Given the description of an element on the screen output the (x, y) to click on. 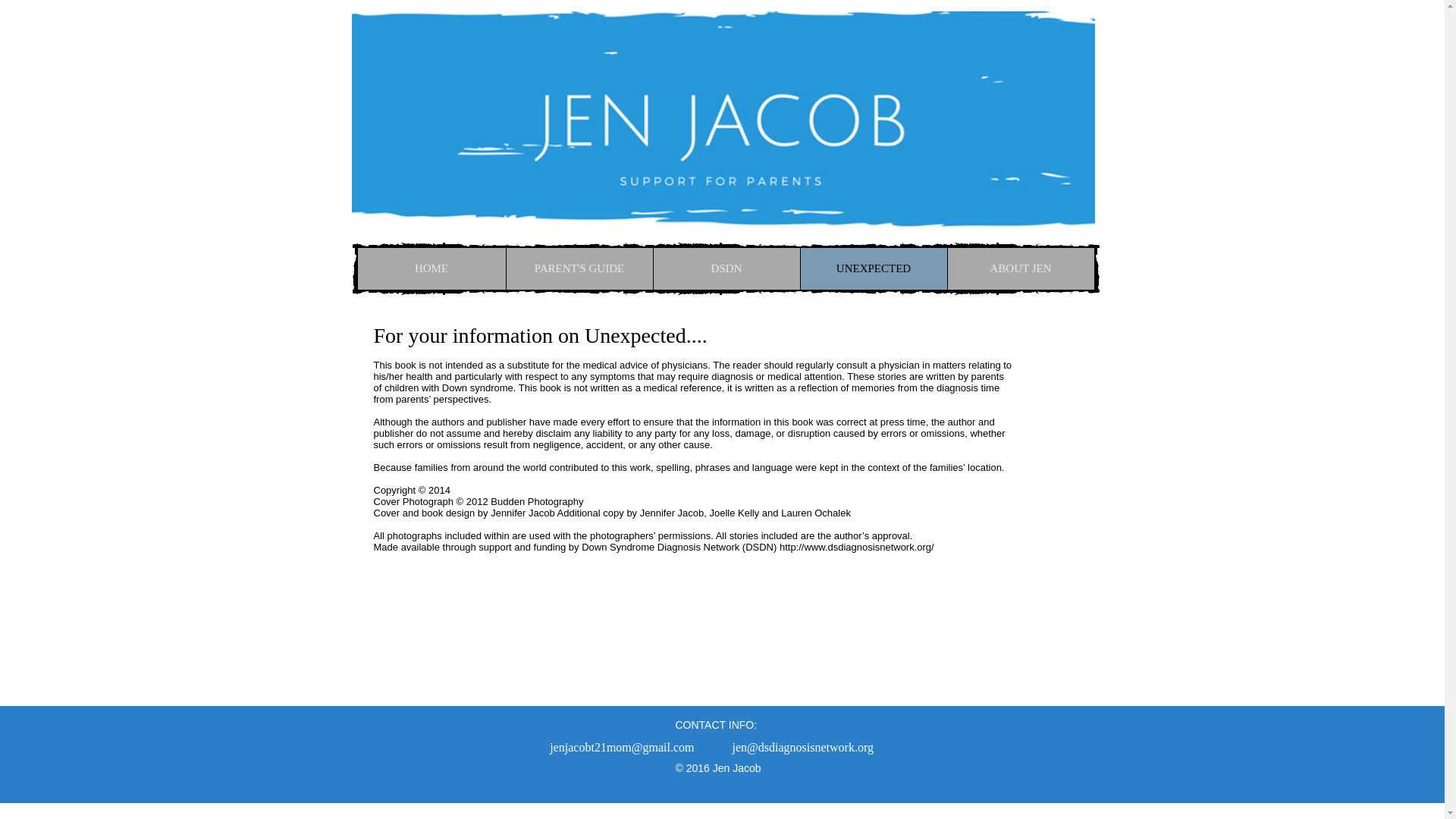
ABOUT JEN (1019, 268)
HOME (431, 268)
PARENT'S GUIDE (578, 268)
DSDN (725, 268)
UNEXPECTED (872, 268)
